Given the description of an element on the screen output the (x, y) to click on. 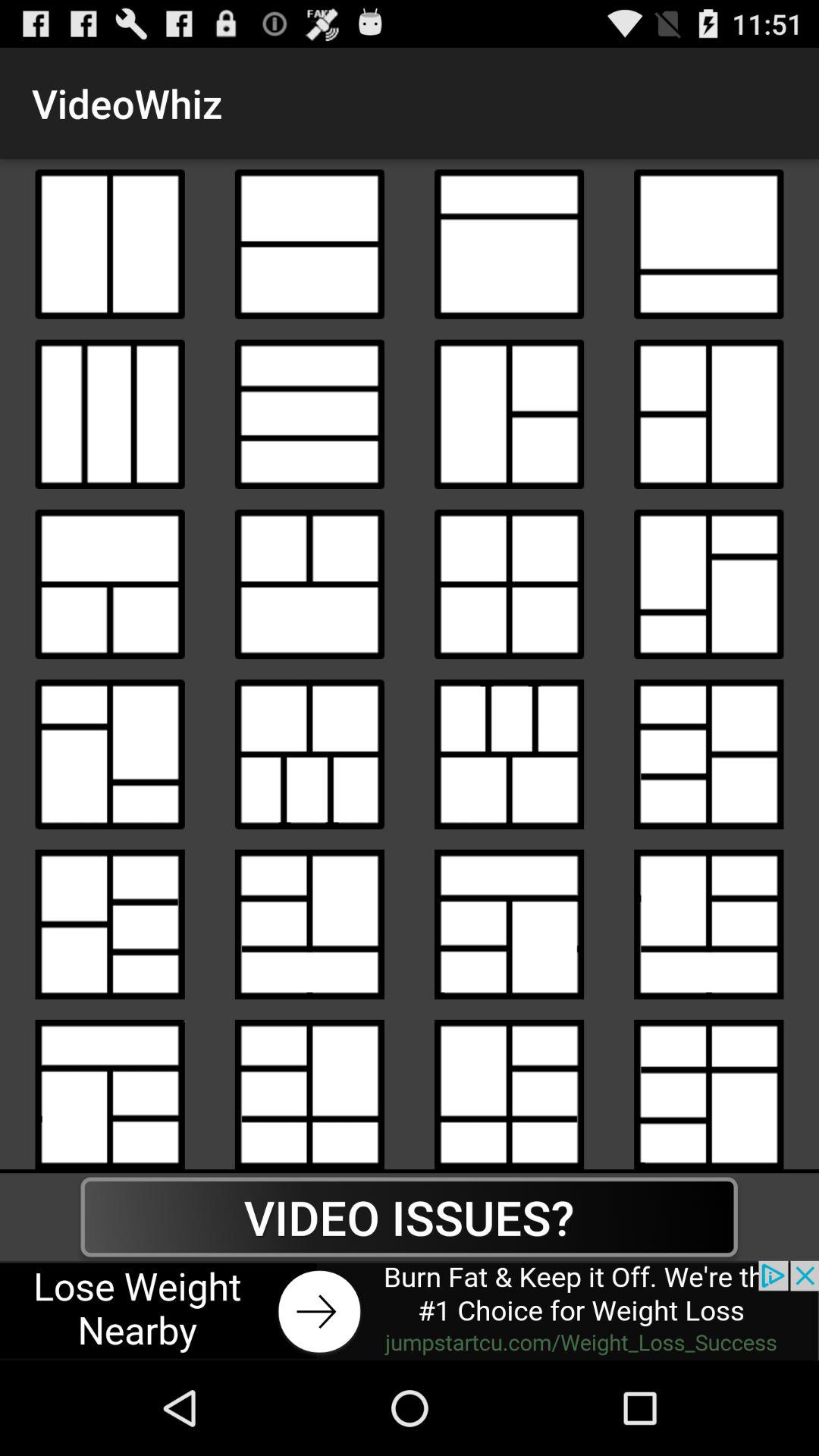
grid model (708, 244)
